Given the description of an element on the screen output the (x, y) to click on. 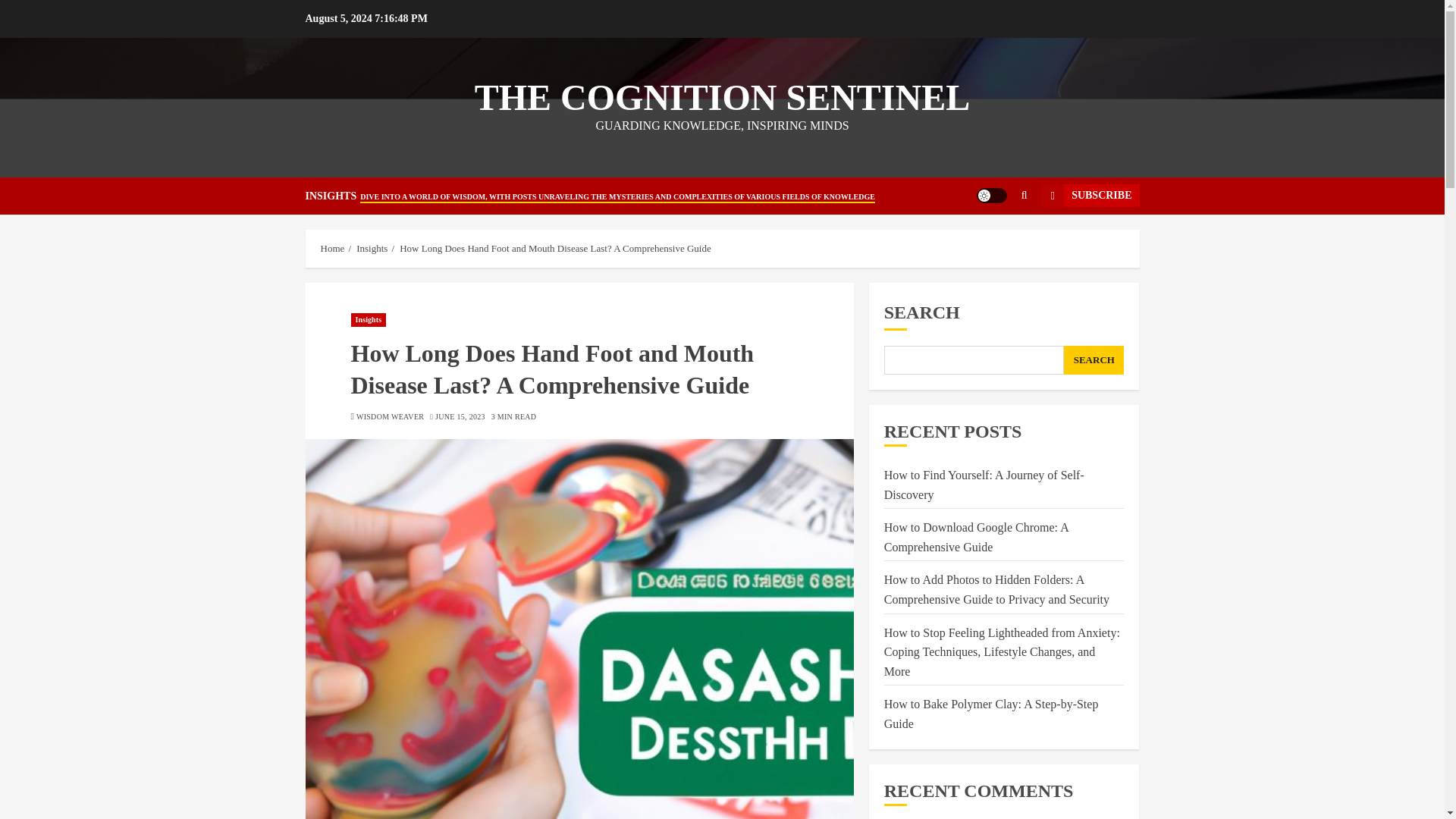
How to Find Yourself: A Journey of Self-Discovery (983, 485)
THE COGNITION SENTINEL (722, 96)
Home (331, 248)
How to Bake Polymer Clay: A Step-by-Step Guide (991, 714)
Search (994, 241)
JUNE 15, 2023 (459, 416)
WISDOM WEAVER (389, 416)
How to Download Google Chrome: A Comprehensive Guide (975, 537)
SEARCH (1094, 359)
Insights (367, 319)
Insights (371, 248)
